Given the description of an element on the screen output the (x, y) to click on. 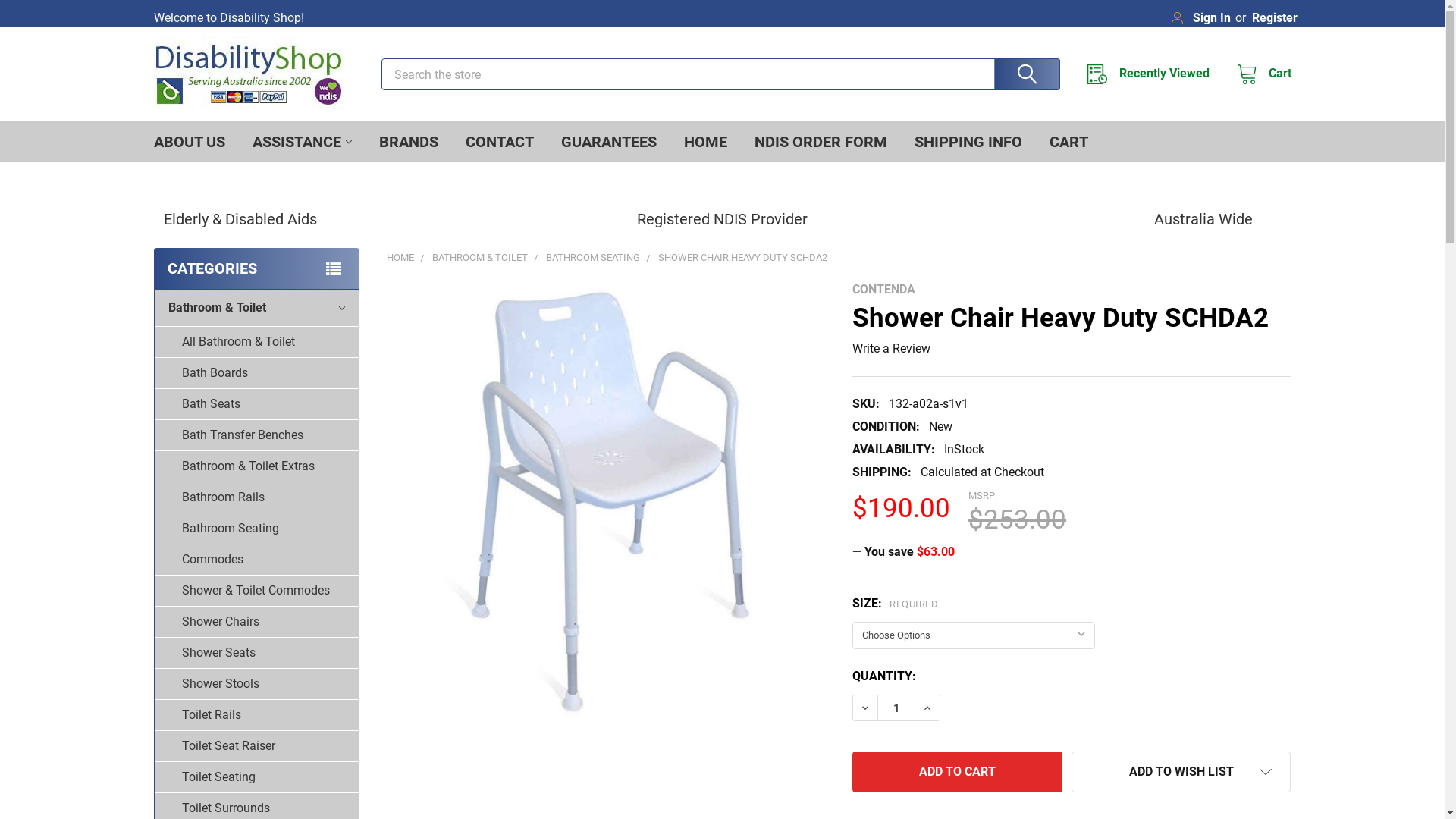
Toilet Seat Raiser Element type: text (256, 746)
Toilet Seating Element type: text (256, 777)
Bathroom & Toilet Element type: text (256, 307)
DECREASE QUANTITY OF SHOWER CHAIR HEAVY DUTY SCHDA2 Element type: text (865, 707)
CATEGORIES Element type: text (255, 267)
CONTACT Element type: text (499, 141)
Bath Boards Element type: text (256, 373)
Toilet Rails Element type: text (256, 715)
NDIS ORDER FORM Element type: text (820, 141)
CONTENDA Element type: text (883, 289)
BATHROOM SEATING Element type: text (593, 257)
Bath Transfer Benches Element type: text (256, 435)
Bathroom Seating Element type: text (256, 528)
Shower Chair Heavy Duty SCHDA2 Element type: hover (605, 501)
Register Element type: text (1273, 13)
Recently Viewed Element type: text (1152, 73)
Shower & Toilet Commodes Element type: text (256, 590)
Shower Chairs Element type: text (256, 621)
Cart Element type: text (1258, 73)
Shower Seats Element type: text (256, 652)
Bathroom Rails Element type: text (256, 497)
All Bathroom & Toilet Element type: text (256, 341)
INCREASE QUANTITY OF SHOWER CHAIR HEAVY DUTY SCHDA2 Element type: text (927, 707)
Search Element type: text (1023, 74)
Add to Cart Element type: text (957, 771)
BATHROOM & TOILET Element type: text (479, 257)
Bath Seats Element type: text (256, 404)
Commodes Element type: text (256, 559)
Disability Shop Element type: hover (247, 74)
ABOUT US Element type: text (188, 141)
Bathroom & Toilet Extras Element type: text (256, 466)
GUARANTEES Element type: text (608, 141)
ASSISTANCE Element type: text (301, 141)
Shower Stools Element type: text (256, 683)
Sign In Element type: text (1200, 13)
HOME Element type: text (400, 257)
SHIPPING INFO Element type: text (967, 141)
SHOWER CHAIR HEAVY DUTY SCHDA2 Element type: text (742, 257)
CART Element type: text (1068, 141)
HOME Element type: text (705, 141)
ADD TO WISH LIST Element type: text (1180, 771)
Write a Review Element type: text (891, 348)
BRANDS Element type: text (408, 141)
